Given the description of an element on the screen output the (x, y) to click on. 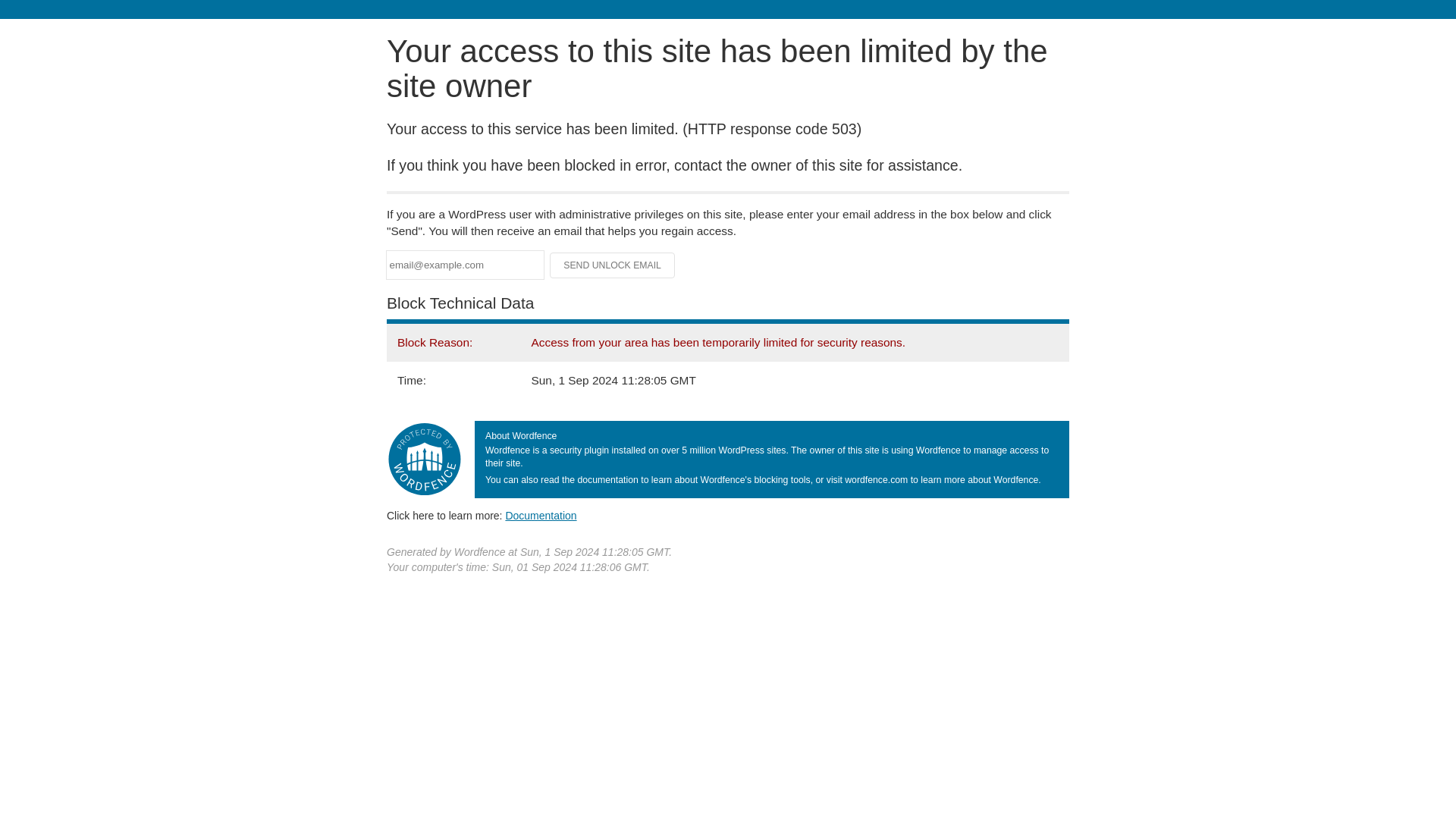
Send Unlock Email (612, 265)
Send Unlock Email (612, 265)
Documentation (540, 515)
